Given the description of an element on the screen output the (x, y) to click on. 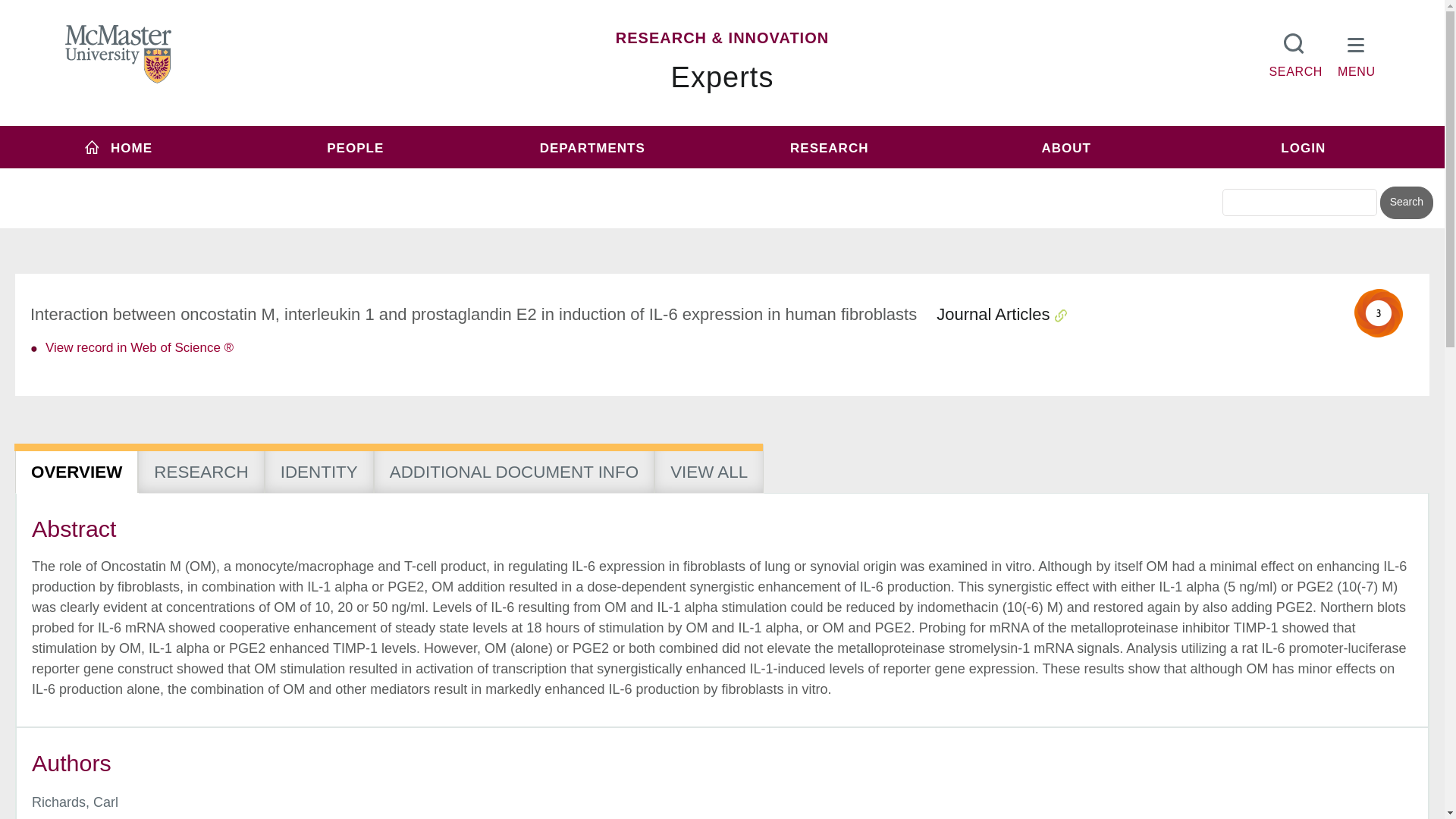
author name (74, 801)
link text (138, 347)
McMaster Univeristy Logo (118, 54)
MENU (1356, 51)
inurl:experts.mcmaster.ca (601, 175)
MCMASTER LOGO (118, 54)
Home menu item (118, 147)
People menu item (355, 147)
inurl:mcmaster.ca (829, 175)
Departments menu item (592, 147)
Search (1406, 202)
Experts (722, 77)
About menu item (1066, 147)
SEARCH (1295, 51)
Research menu item (829, 147)
